Given the description of an element on the screen output the (x, y) to click on. 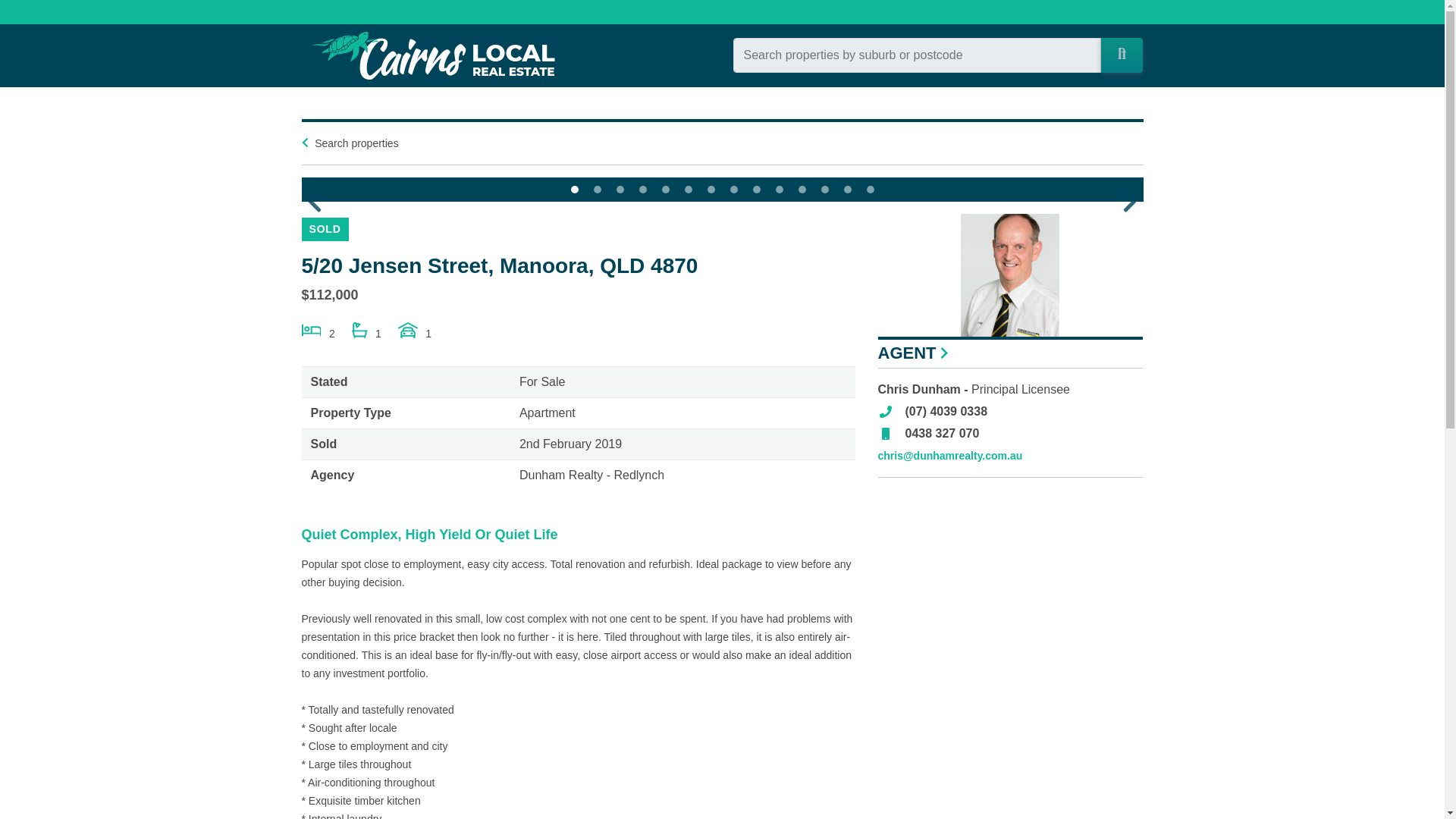
Bathrooms (366, 337)
Search properties (356, 143)
Bedrooms (317, 337)
0438 327 070 (942, 434)
Car Ports (413, 337)
